Given the description of an element on the screen output the (x, y) to click on. 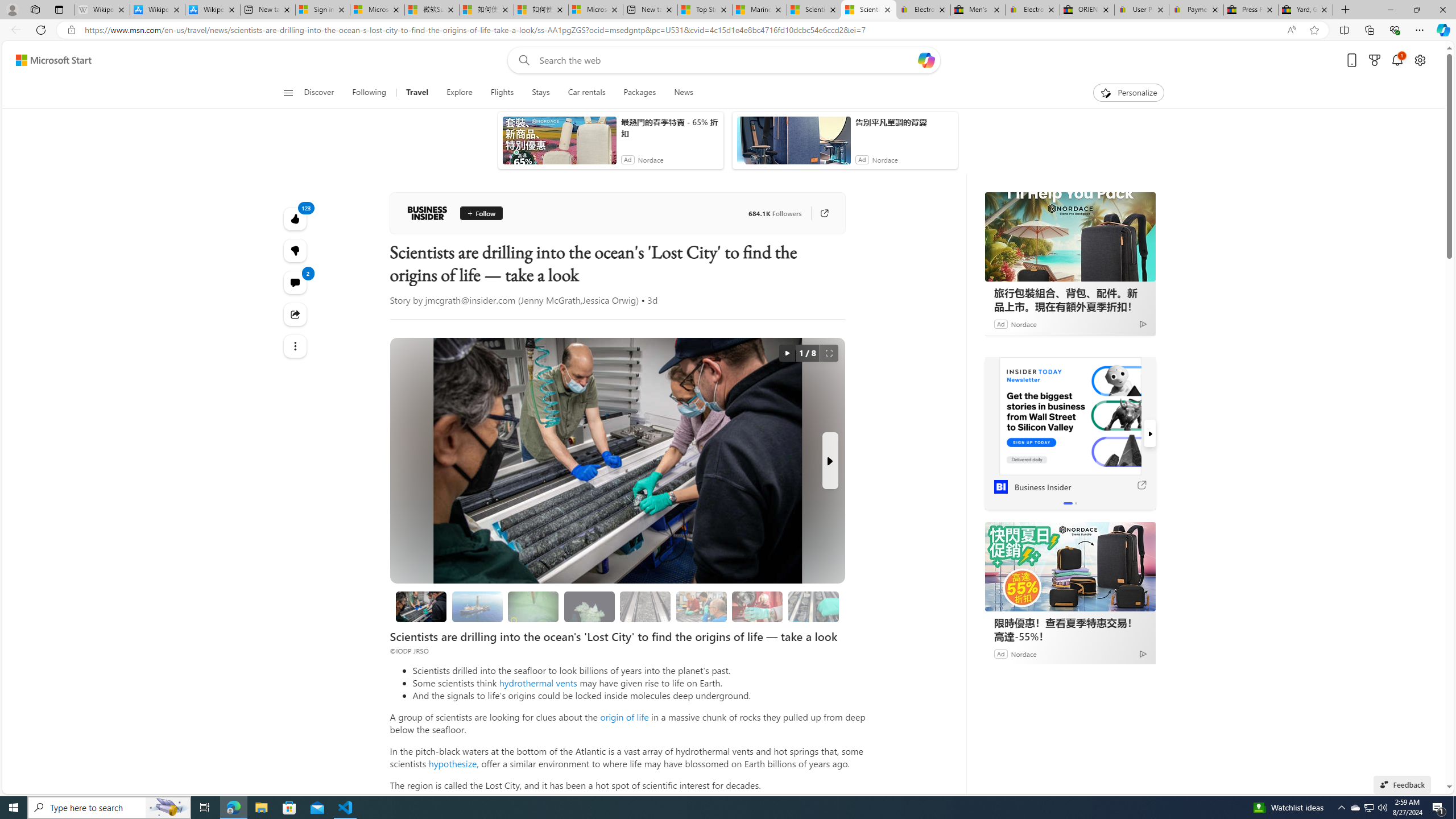
Full screen (828, 352)
Visit Business Insider website (1140, 372)
Car rentals (586, 92)
Researchers are still studying the samples (813, 606)
Looking for evidence of oxygen-free life (700, 606)
